Given the description of an element on the screen output the (x, y) to click on. 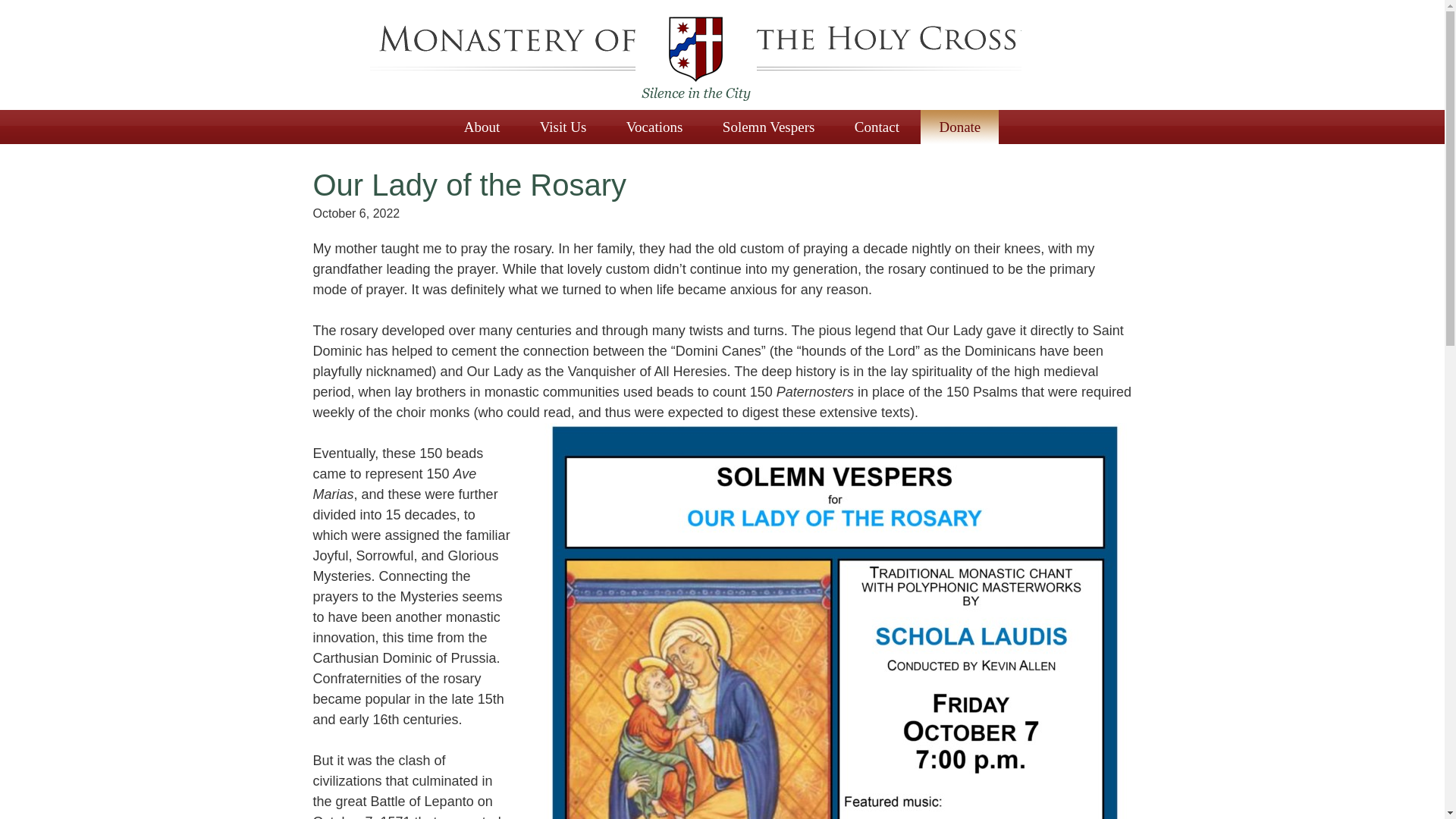
Monastery of the Holy Cross (694, 58)
Vocations (654, 126)
Donate (959, 126)
Solemn Vespers (768, 126)
Visit Us (563, 126)
About (481, 126)
Contact (876, 126)
